Given the description of an element on the screen output the (x, y) to click on. 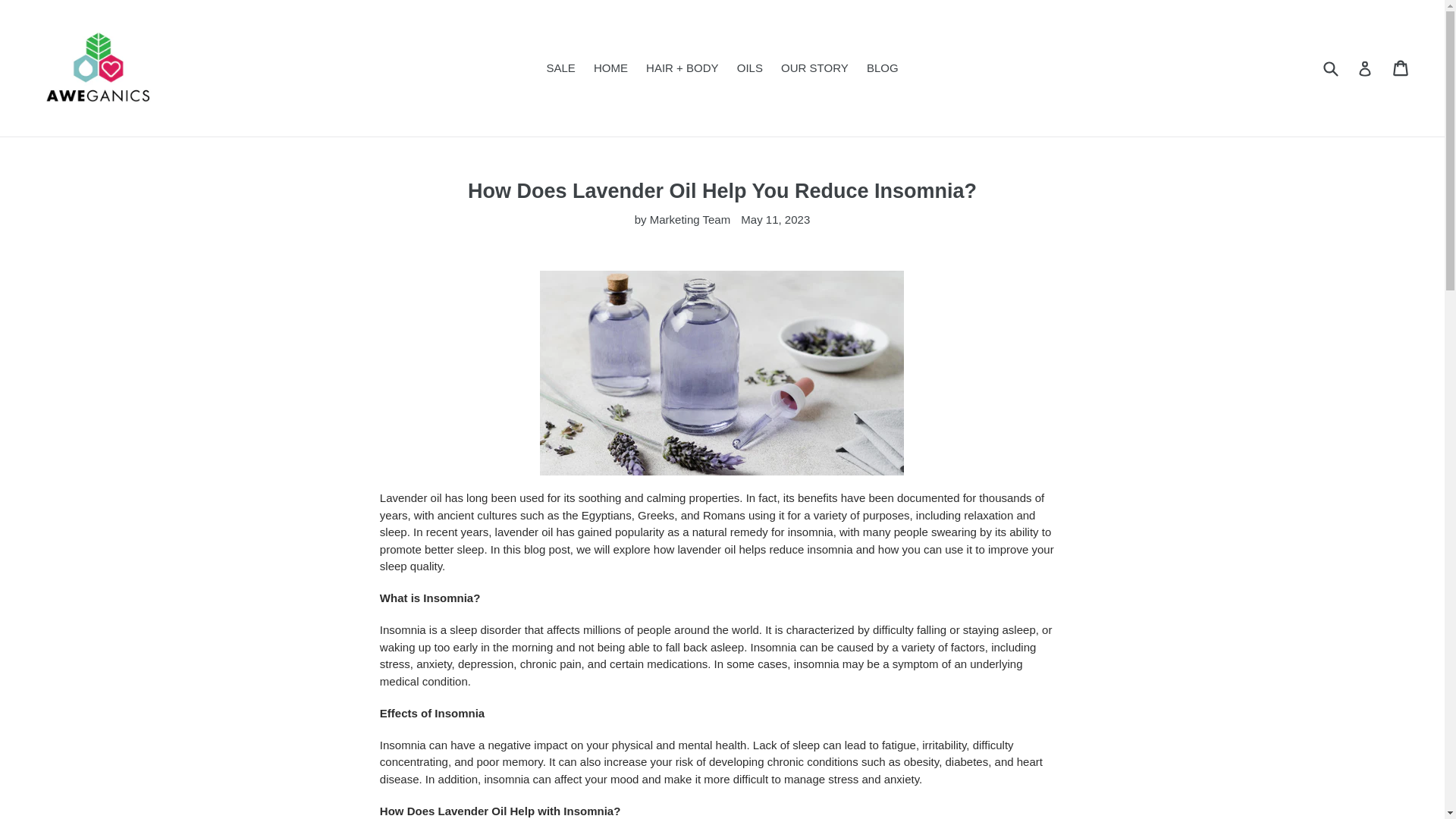
HOME (610, 68)
OUR STORY (814, 68)
BLOG (882, 68)
SALE (560, 68)
OILS (749, 68)
